Given the description of an element on the screen output the (x, y) to click on. 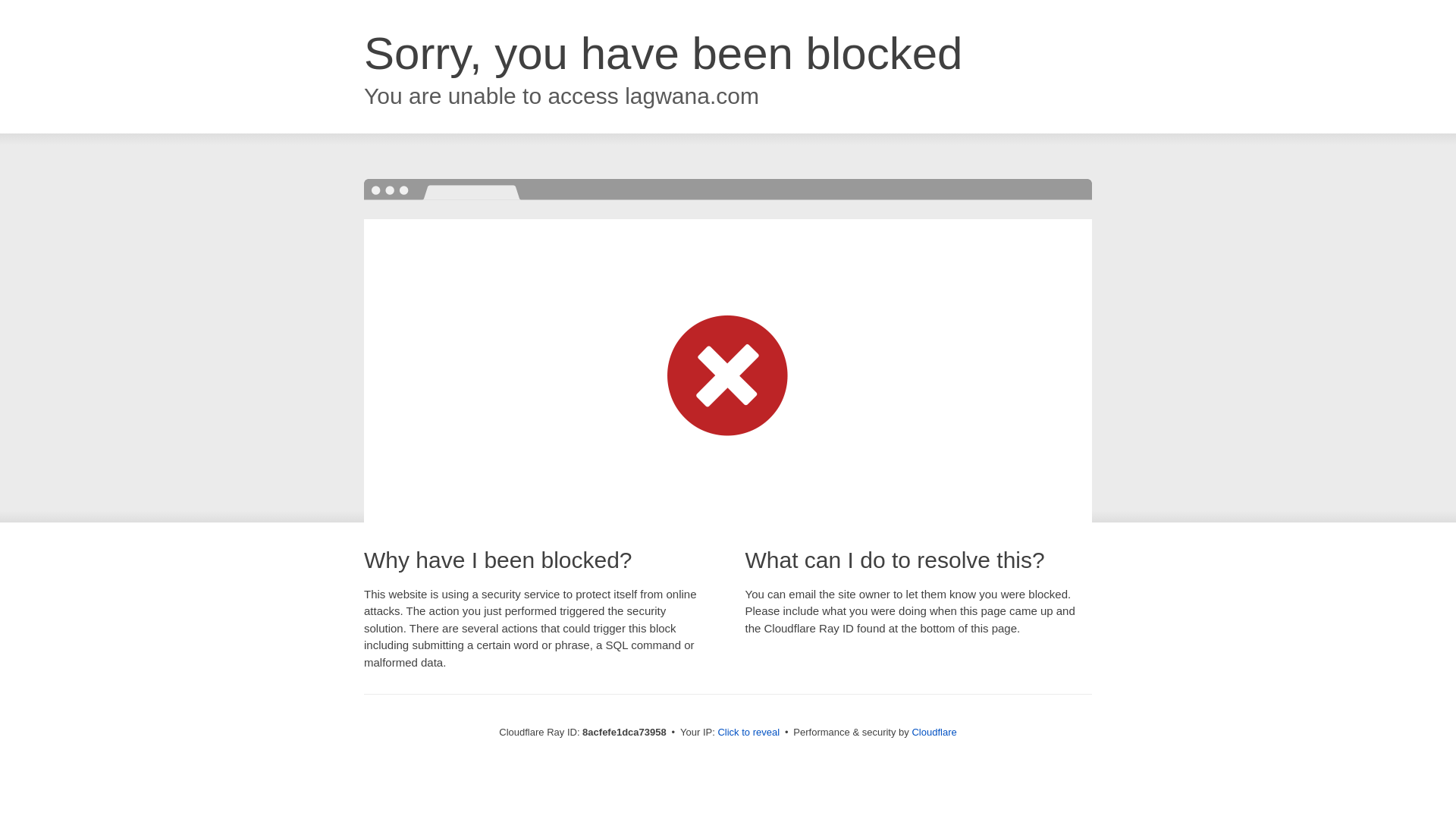
Cloudflare (933, 731)
Click to reveal (747, 732)
